Given the description of an element on the screen output the (x, y) to click on. 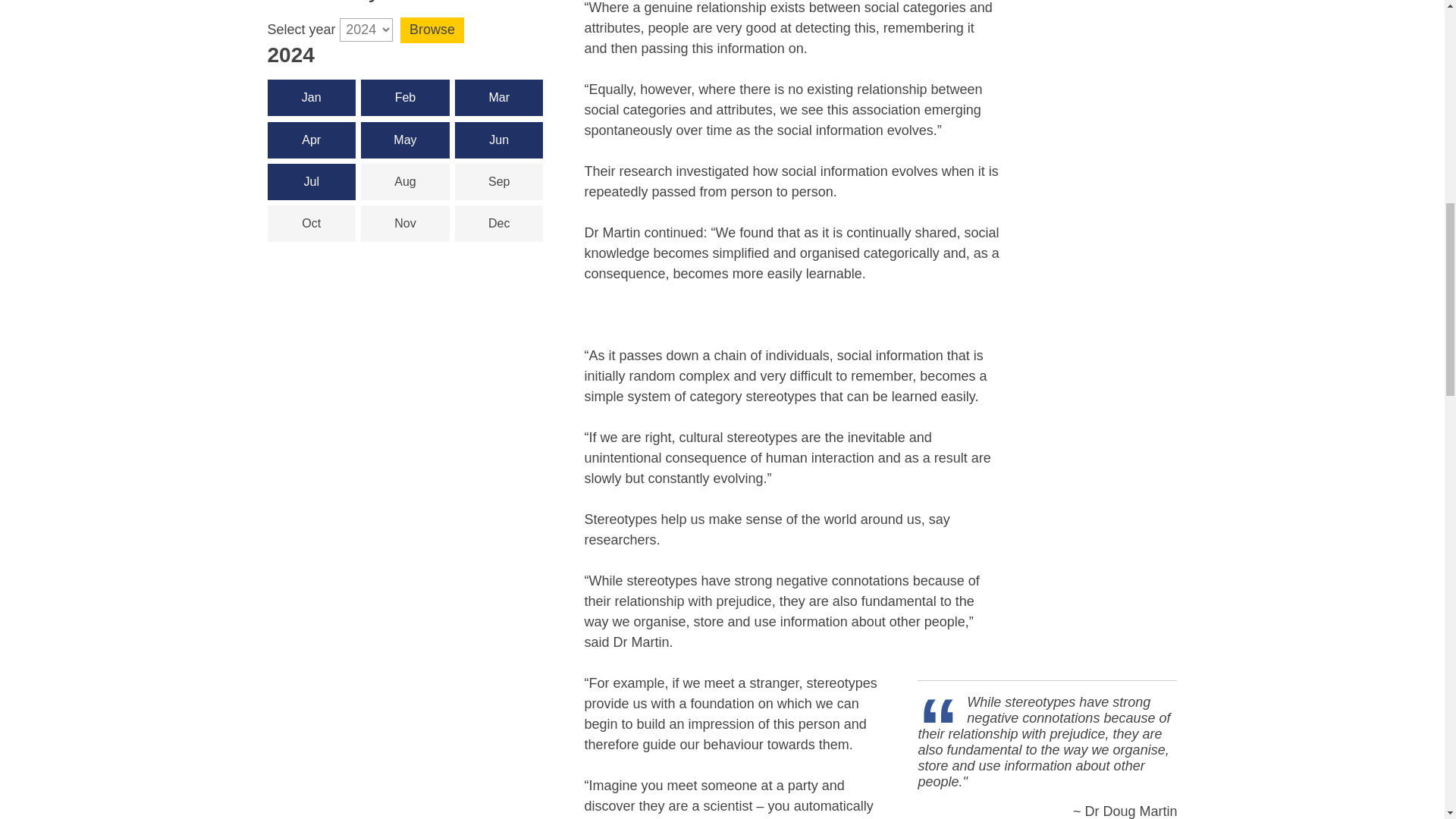
View items for April 2024 (311, 140)
View items for July 2024 (311, 181)
View items for February 2024 (404, 97)
View items for June 2024 (498, 140)
View items for March 2024 (498, 97)
View items for January 2024 (311, 97)
View items for May 2024 (404, 140)
